Given the description of an element on the screen output the (x, y) to click on. 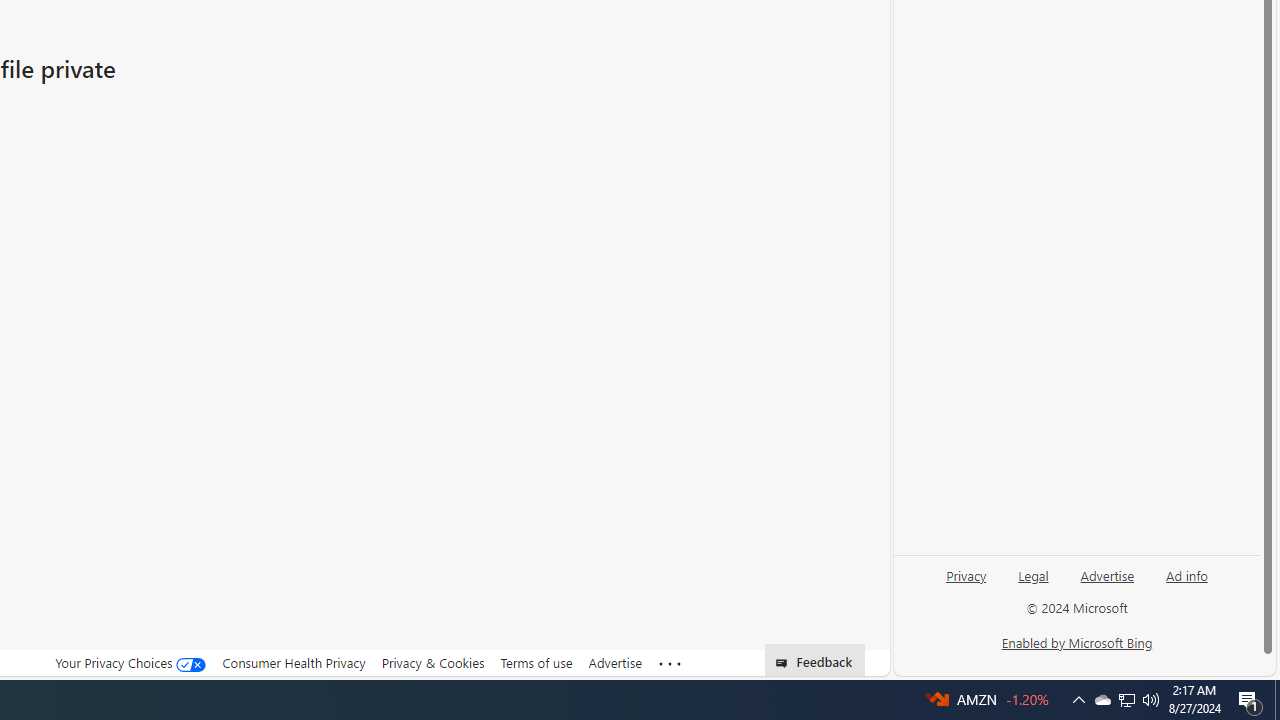
Your Privacy Choices (131, 662)
Class: oneFooter_seeMore-DS-EntryPoint1-1 (669, 663)
Your Privacy Choices (131, 663)
Class: feedback_link_icon-DS-EntryPoint1-1 (785, 663)
